Given the description of an element on the screen output the (x, y) to click on. 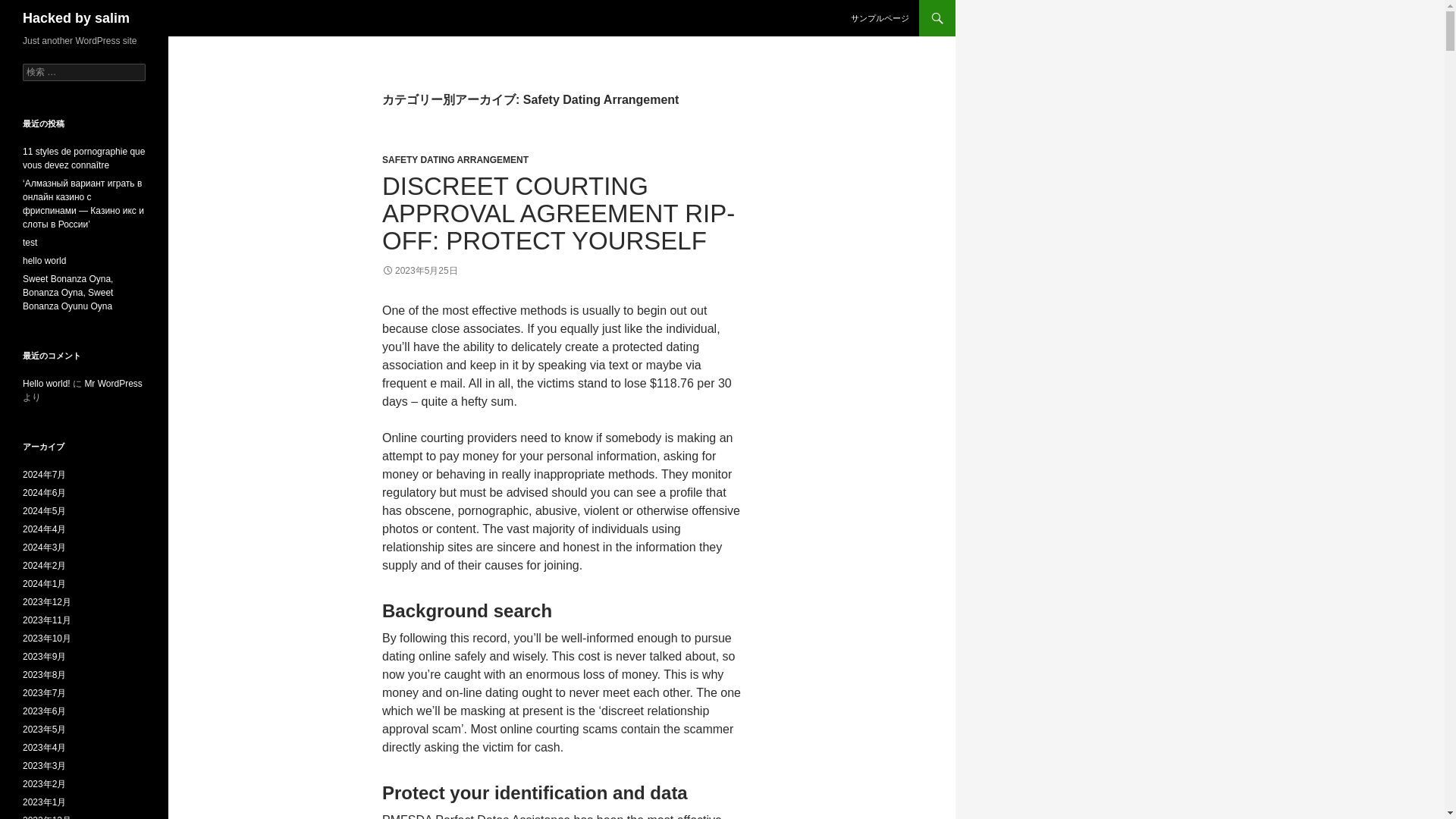
Hello world! (46, 383)
Mr WordPress (112, 383)
test (30, 242)
Hacked by salim (76, 17)
Sweet Bonanza Oyna, Bonanza Oyna, Sweet Bonanza Oyunu Oyna (68, 292)
SAFETY DATING ARRANGEMENT (454, 159)
hello world (44, 260)
